Given the description of an element on the screen output the (x, y) to click on. 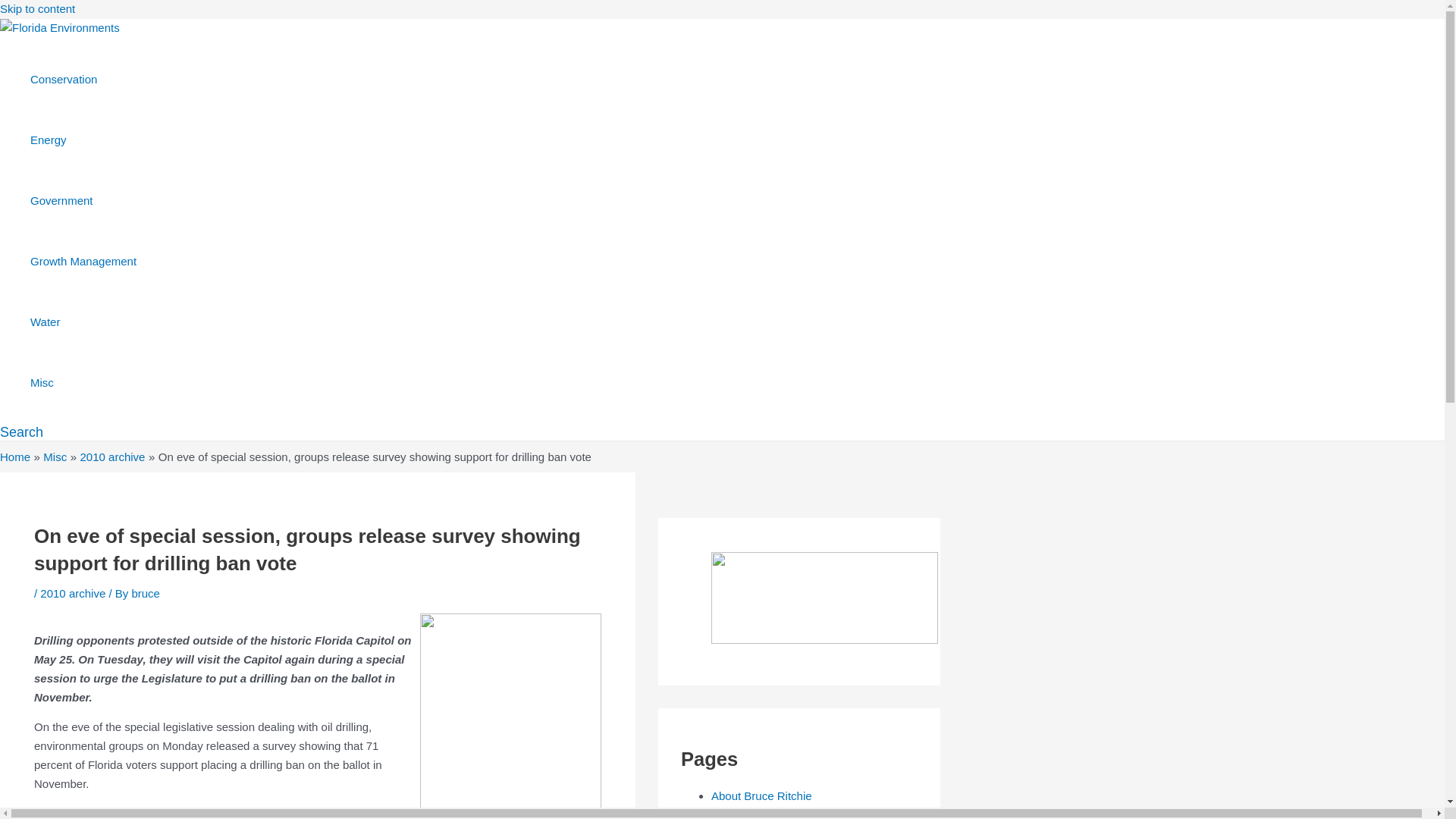
Search (21, 432)
Conservation (83, 78)
Contact Us (739, 816)
Water (83, 321)
Growth Management (83, 260)
About Bruce Ritchie (761, 795)
2010 archive (112, 456)
Government (83, 199)
View all posts by bruce (145, 593)
Skip to content (37, 8)
